Given the description of an element on the screen output the (x, y) to click on. 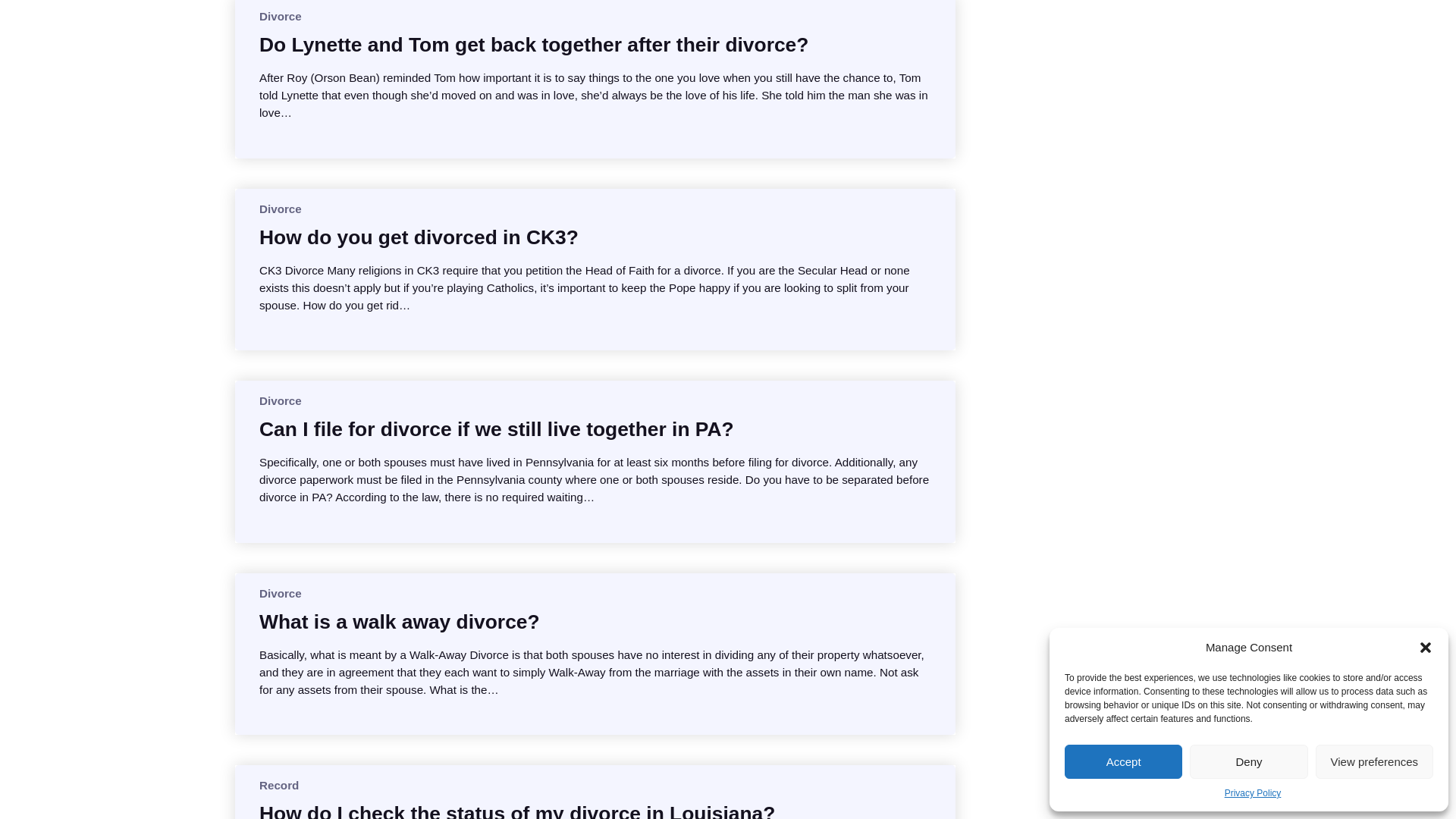
Divorce (280, 15)
Do Lynette and Tom get back together after their divorce? (533, 44)
Divorce (280, 208)
How do you get divorced in CK3? (418, 237)
